Given the description of an element on the screen output the (x, y) to click on. 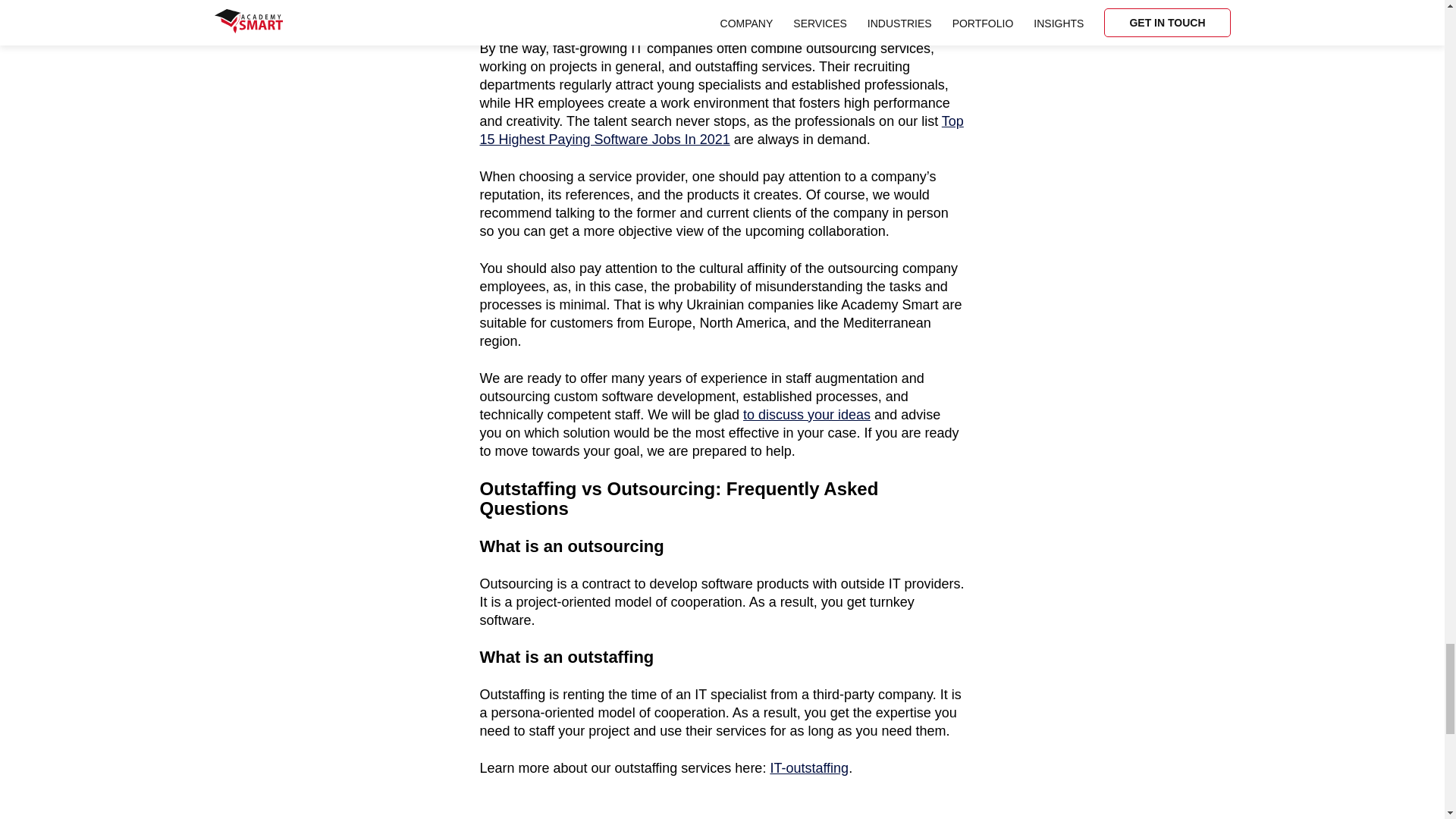
to discuss your ideas (806, 414)
IT-outstaffing (809, 767)
Top 15 Highest Paying Software Jobs In 2021 (720, 130)
